Given the description of an element on the screen output the (x, y) to click on. 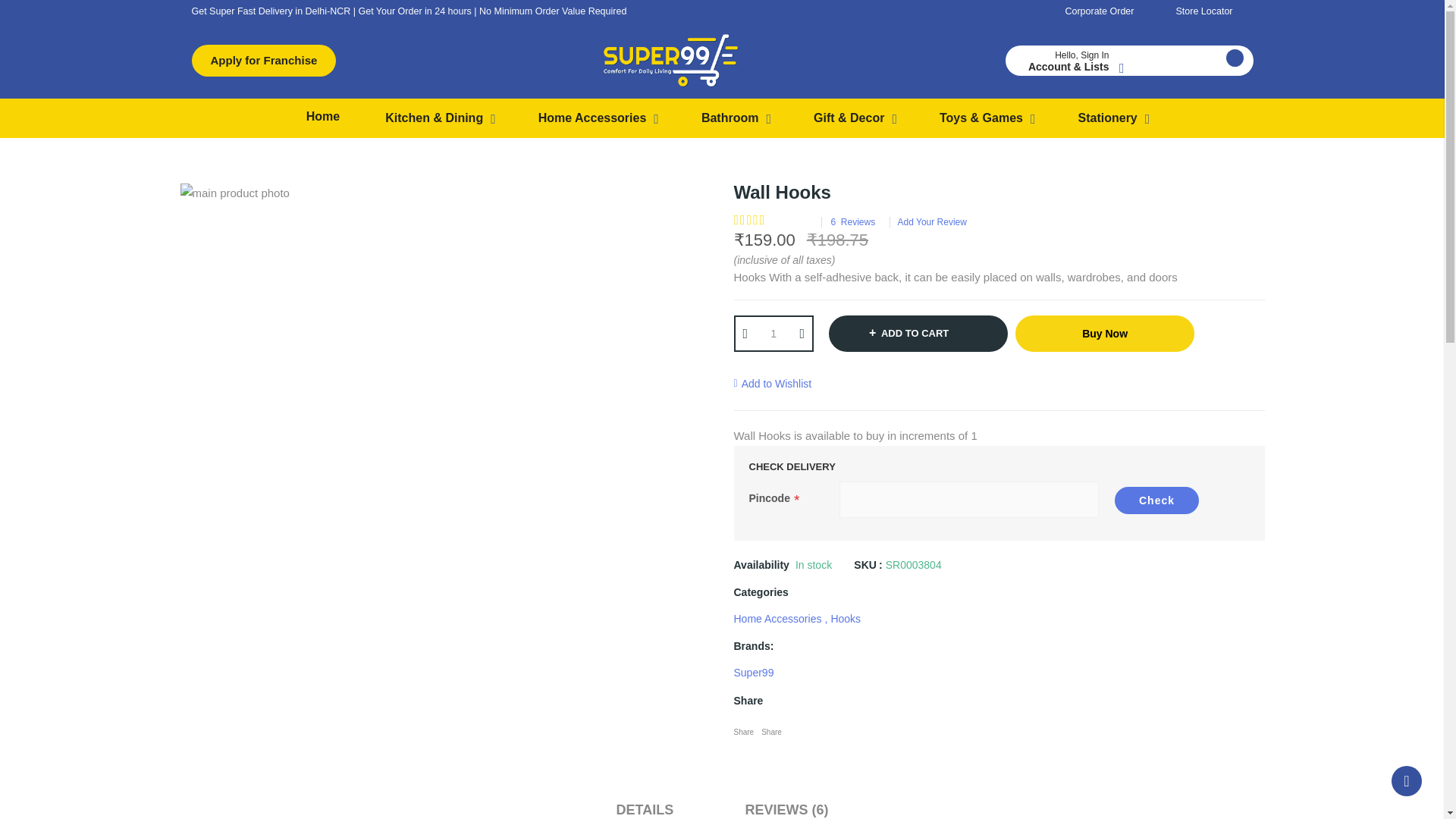
Apply for Franchise (263, 60)
Quantity (773, 333)
Add to cart (917, 333)
Check (1156, 500)
1 (773, 333)
Home Accessories (598, 118)
Buy Now (1103, 333)
Add to Wishlist (772, 383)
Super99 (753, 672)
Store Locator (1213, 10)
